Given the description of an element on the screen output the (x, y) to click on. 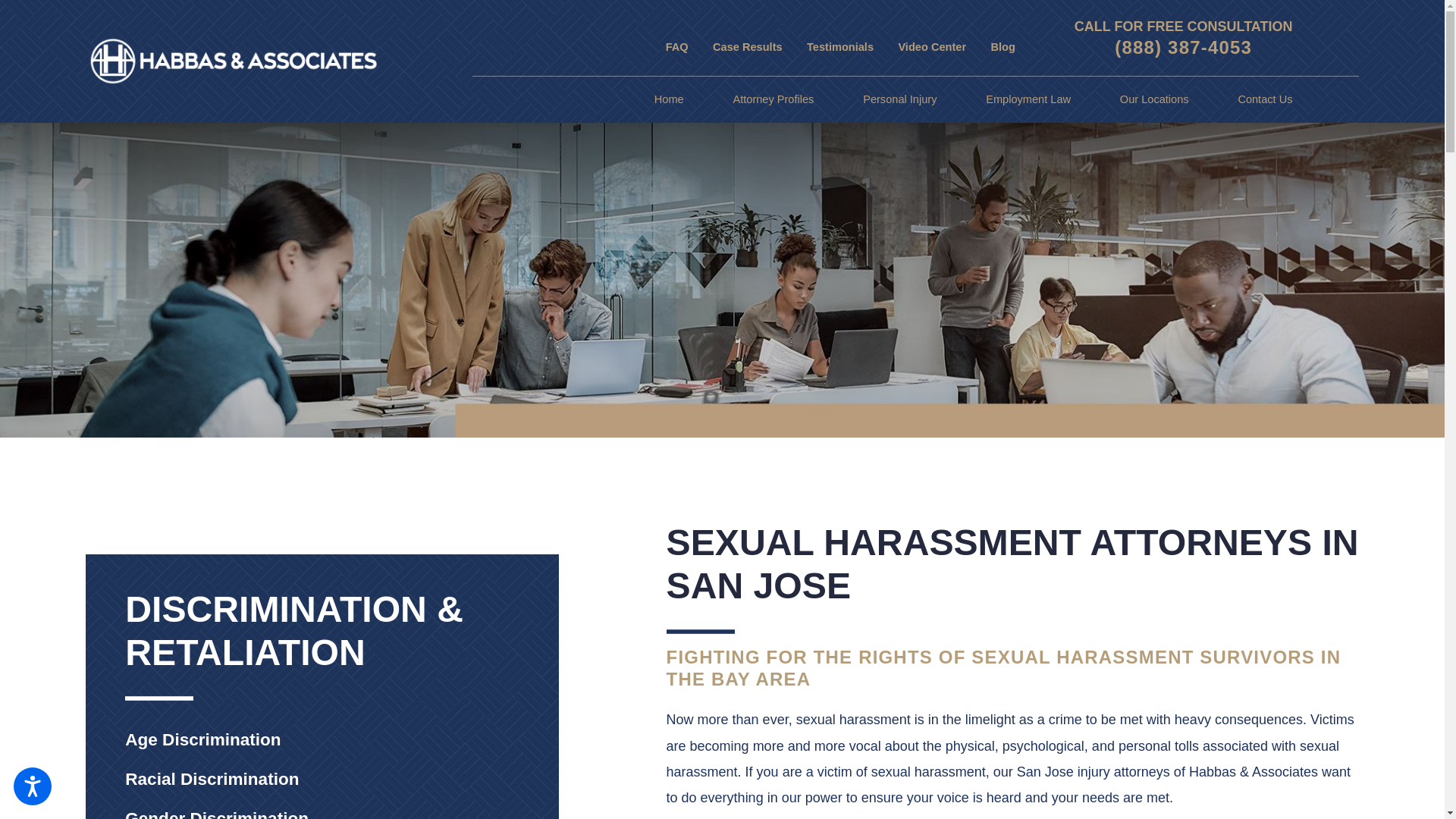
Testimonials (839, 46)
Video Center (932, 46)
Case Results (748, 46)
FAQ (676, 46)
Open the accessibility options menu (31, 786)
Personal Injury (899, 99)
Blog (1002, 46)
Attorney Profiles (772, 99)
